Given the description of an element on the screen output the (x, y) to click on. 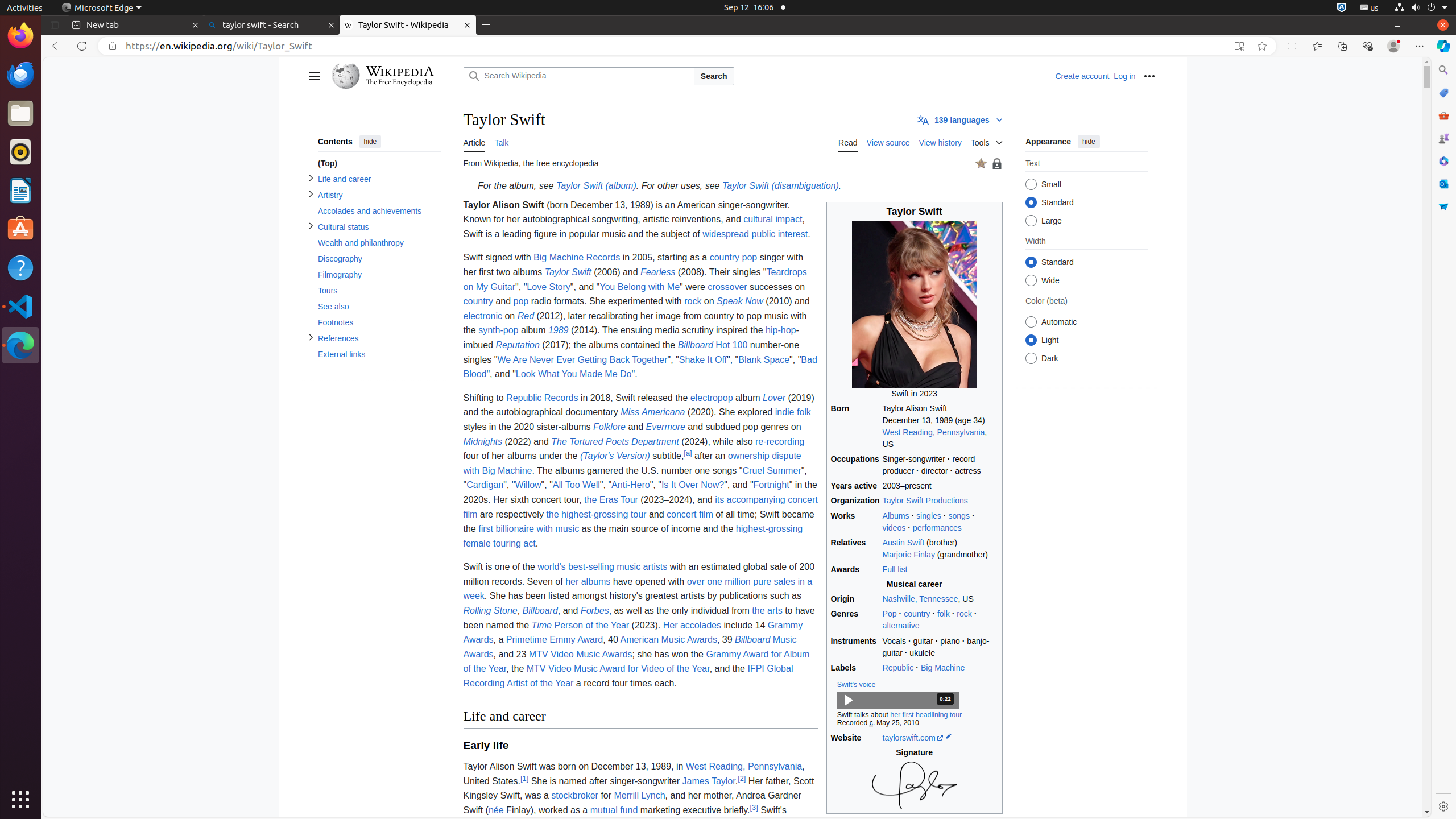
Back Element type: push-button (54, 45)
Settings and more (Alt+F) Element type: push-button (1419, 45)
née Element type: link (495, 809)
Page semi-protected Element type: link (996, 163)
West Reading, Pennsylvania Element type: link (933, 431)
